Given the description of an element on the screen output the (x, y) to click on. 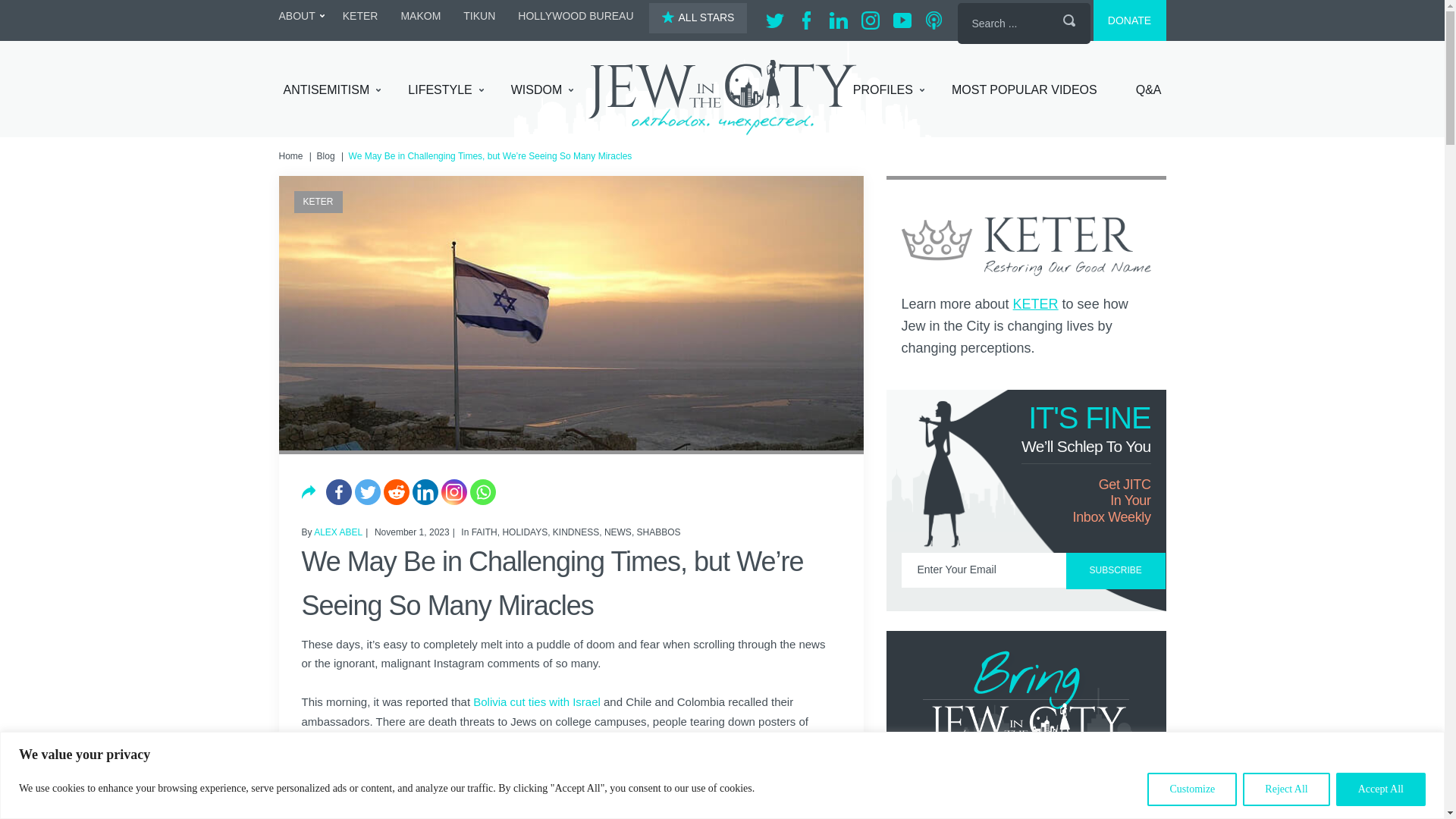
Reject All (1286, 788)
Twitter (367, 492)
Linkedin (425, 492)
Customize (1191, 788)
Facebook (339, 492)
Instagram (454, 492)
WISDOM (542, 90)
LIFESTYLE (445, 90)
Accept All (1380, 788)
ANTISEMITISM (332, 90)
